Given the description of an element on the screen output the (x, y) to click on. 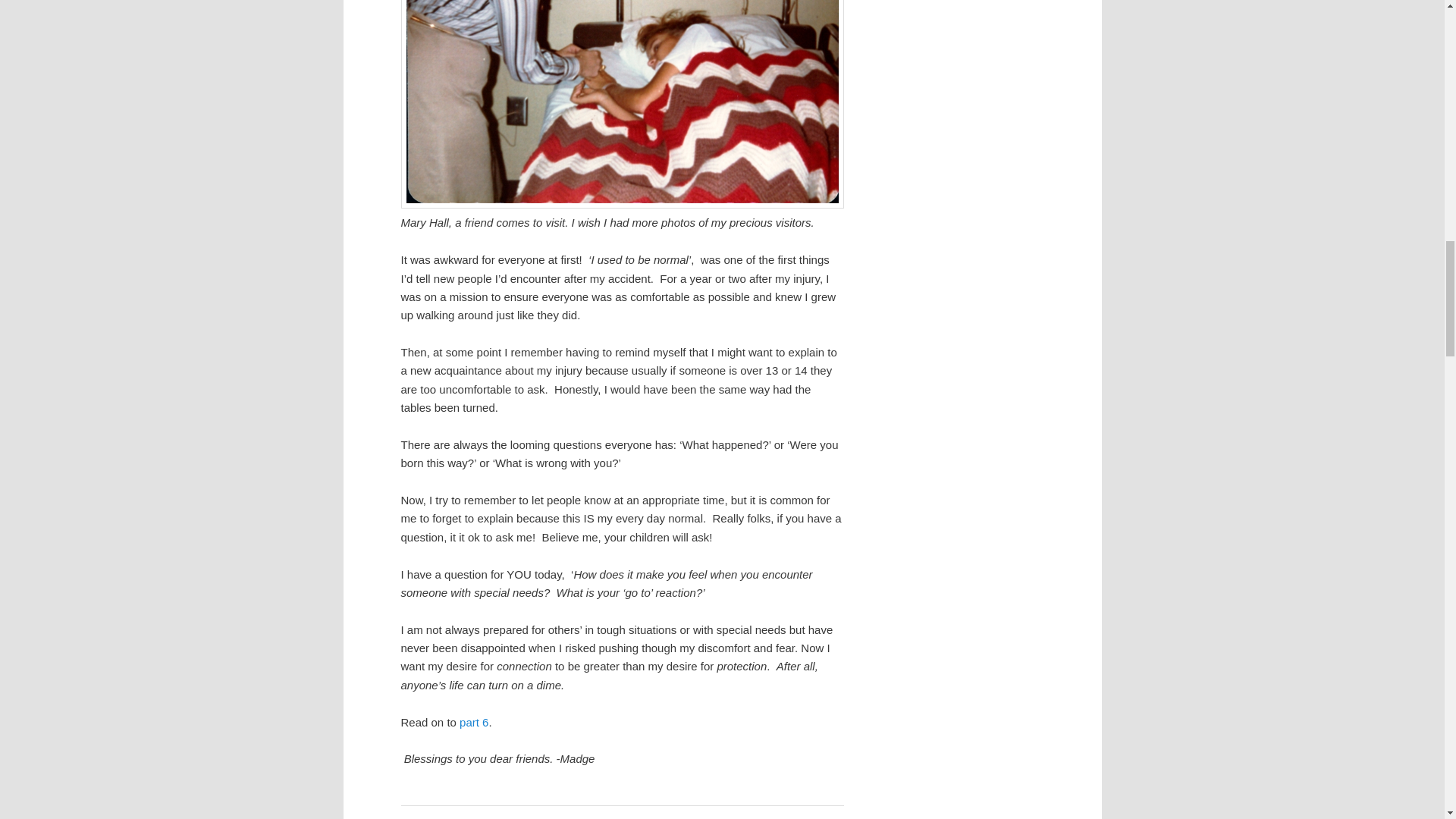
part 6 (473, 721)
mel visits me at shepherd (621, 104)
